Given the description of an element on the screen output the (x, y) to click on. 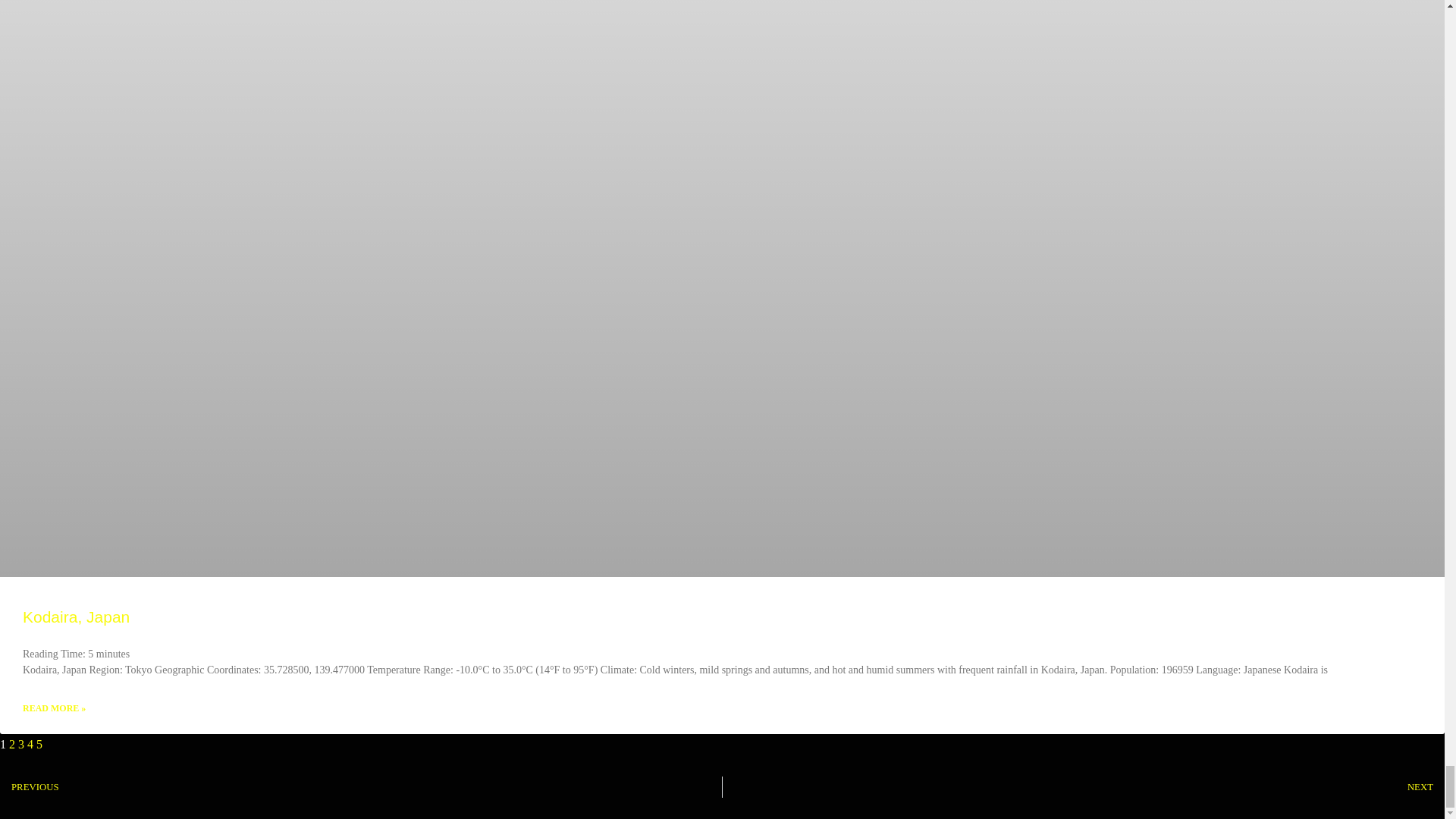
Kodaira, Japan (76, 616)
PREVIOUS (361, 786)
